Given the description of an element on the screen output the (x, y) to click on. 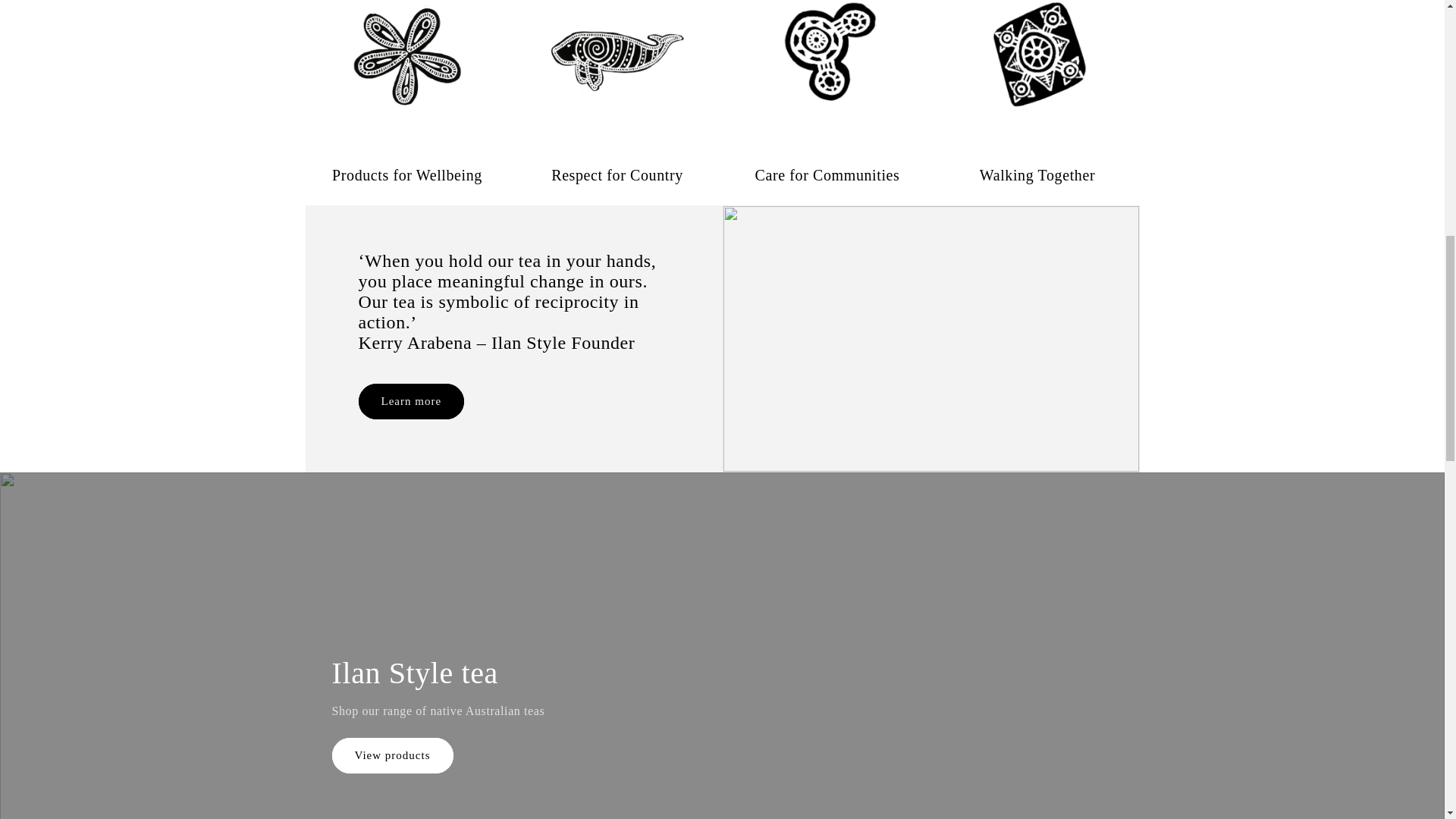
Our Values (406, 175)
Our Values (1036, 175)
Our Values (827, 175)
Our Values (616, 175)
